Given the description of an element on the screen output the (x, y) to click on. 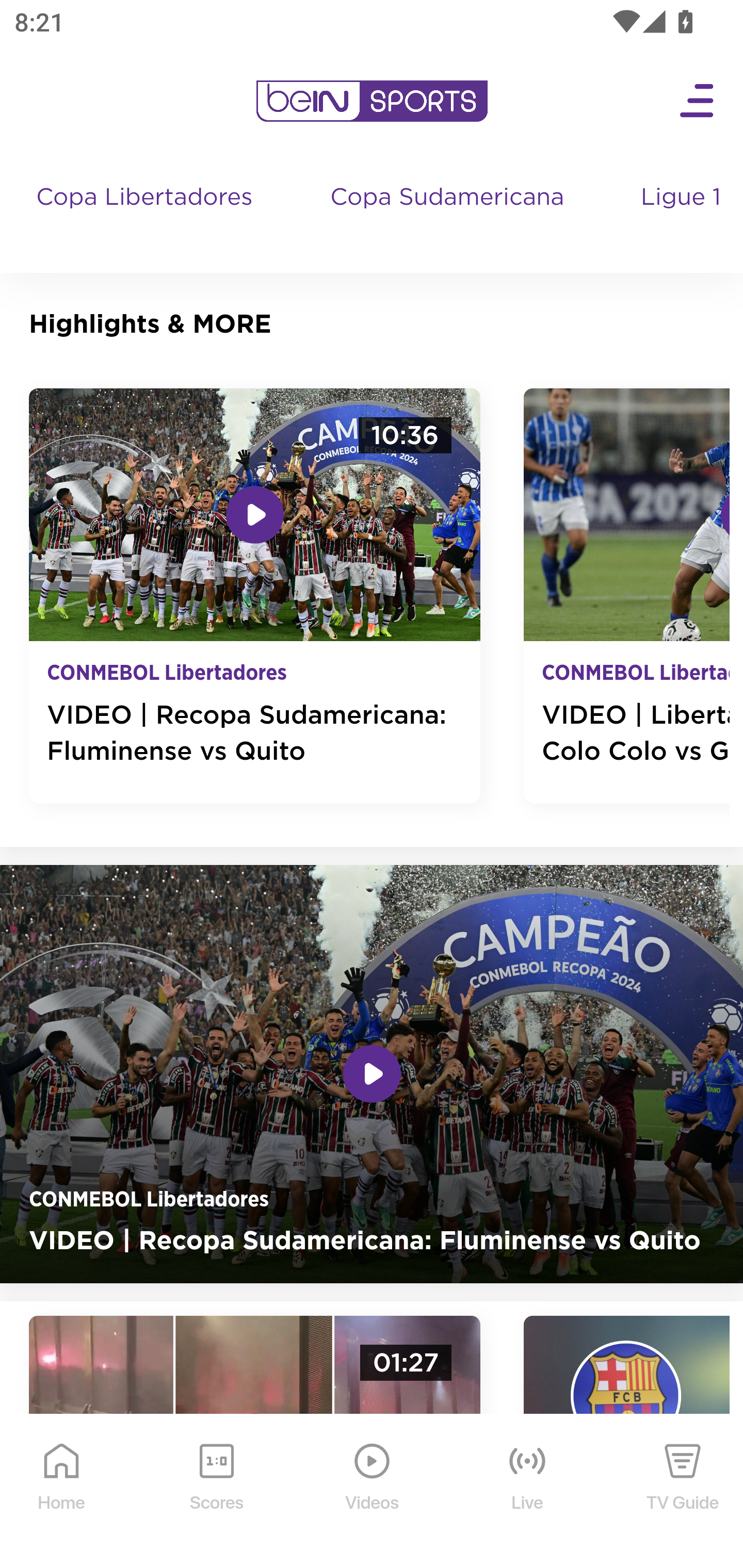
en-us?platform=mobile_android bein logo (371, 101)
Open Menu Icon (697, 101)
Copa Libertadores (146, 216)
Copa Sudamericana (448, 216)
Ligue 1 (682, 216)
Home Home Icon Home (61, 1491)
Scores Scores Icon Scores (216, 1491)
Videos Videos Icon Videos (372, 1491)
TV Guide TV Guide Icon TV Guide (682, 1491)
